Given the description of an element on the screen output the (x, y) to click on. 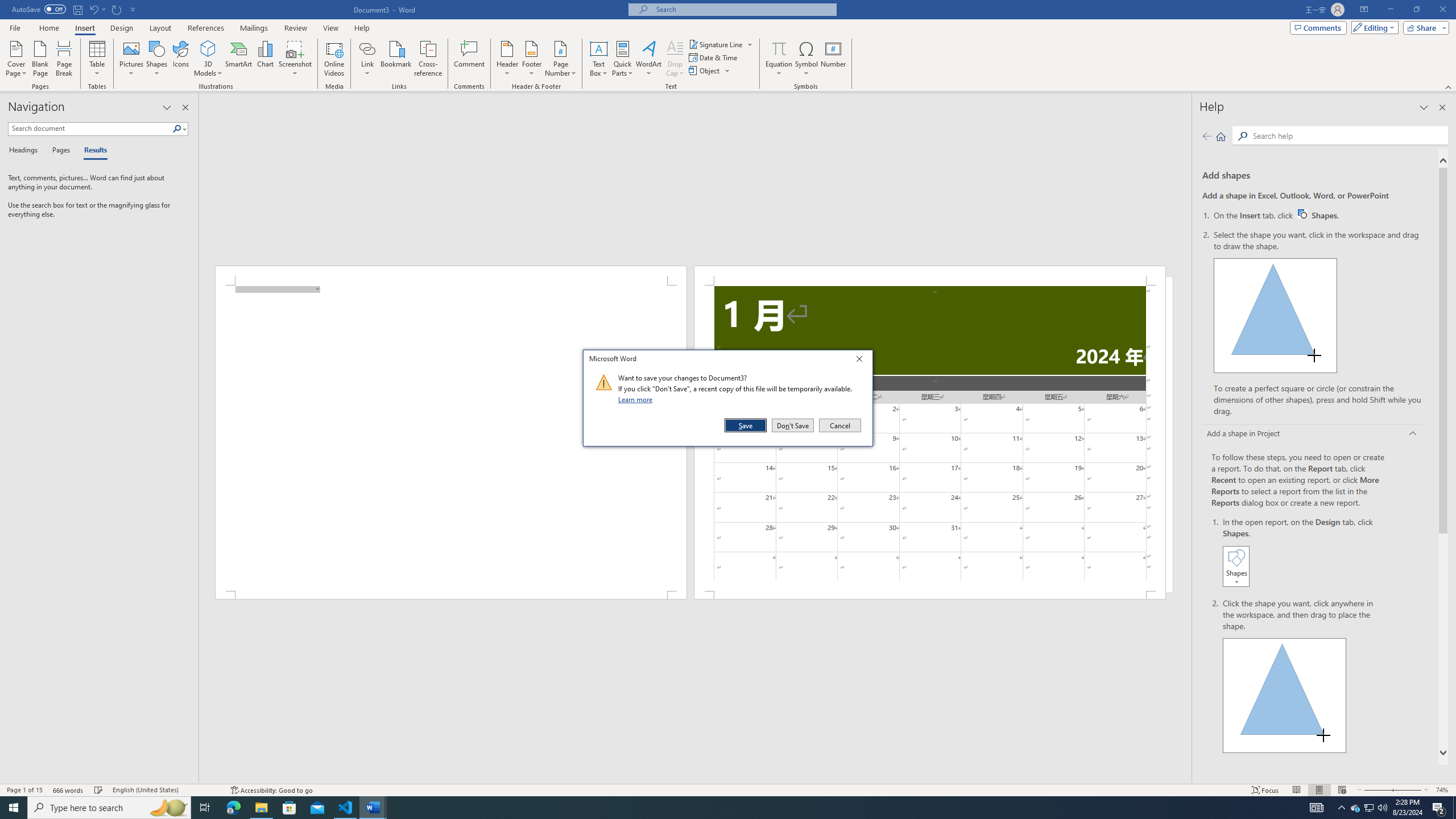
Close pane (185, 107)
AutomationID: 4105 (1316, 807)
Footer -Section 1- (930, 595)
Page Break (63, 58)
Q2790: 100% (1382, 807)
Cross-reference... (428, 58)
Search (1347, 135)
WordArt (648, 58)
Page Number (560, 58)
Previous page (1206, 136)
Link (367, 48)
Word W32 Shapes button icon (1302, 213)
Bookmark... (396, 58)
Insert Shapes button (1236, 566)
Review (295, 28)
